Given the description of an element on the screen output the (x, y) to click on. 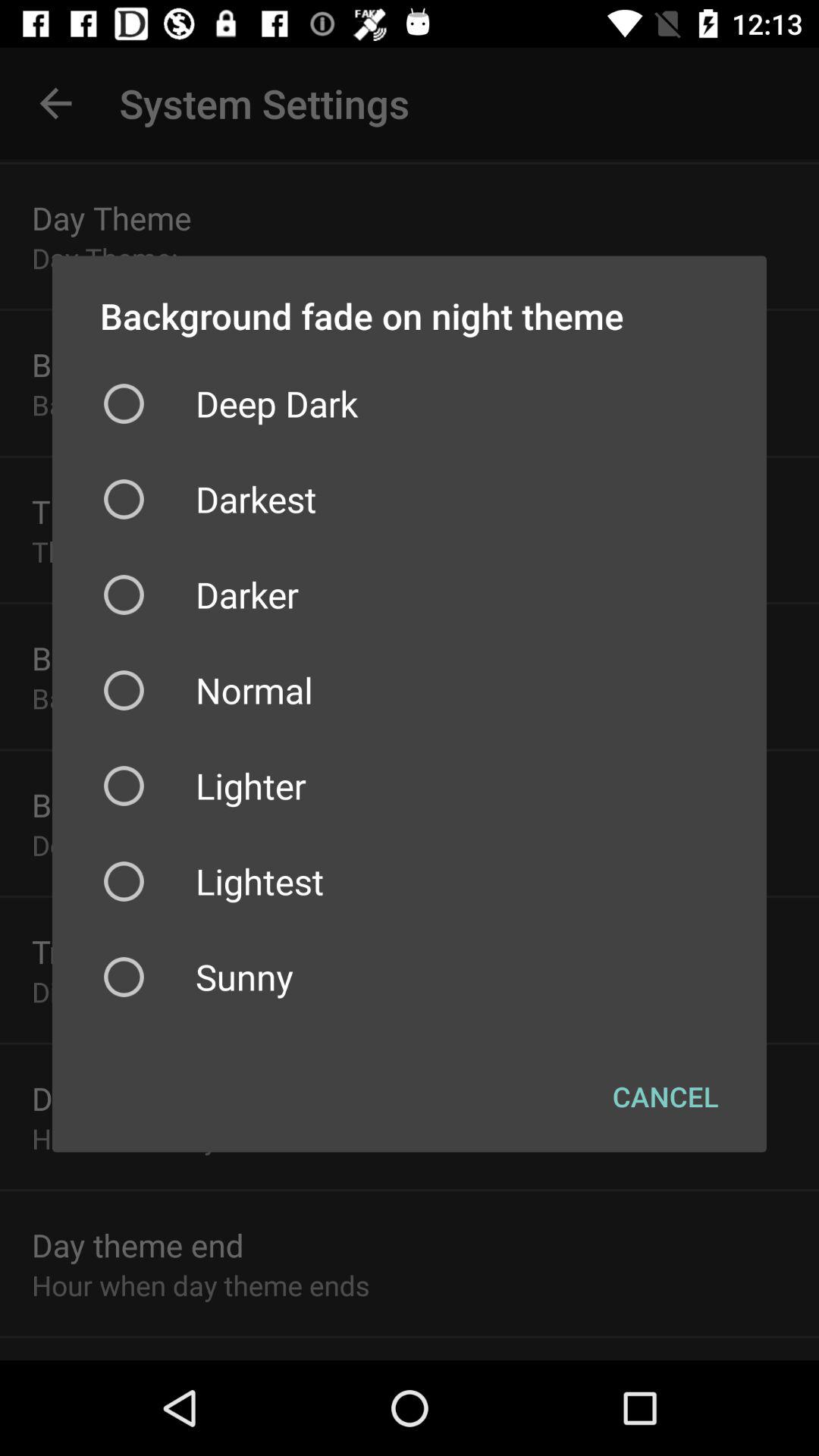
turn on the cancel at the bottom right corner (665, 1096)
